Given the description of an element on the screen output the (x, y) to click on. 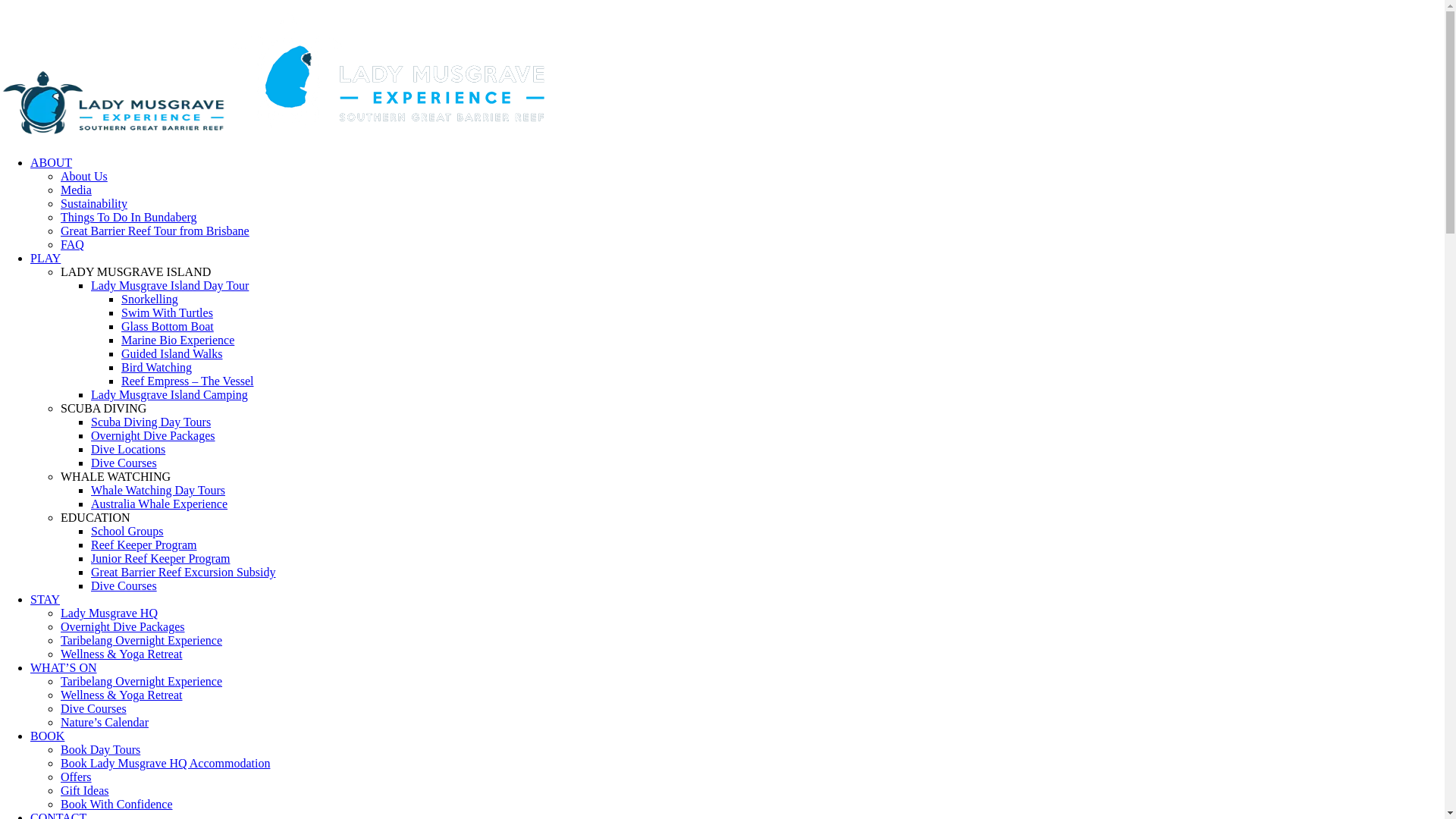
Dive Courses Element type: text (93, 708)
Dive Courses Element type: text (123, 462)
Scuba Diving Day Tours Element type: text (150, 421)
Bird Watching Element type: text (156, 366)
Great Barrier Reef Excursion Subsidy Element type: text (183, 571)
Wellness & Yoga Retreat Element type: text (121, 694)
Things To Do In Bundaberg Element type: text (128, 216)
Lady Musgrave HQ Element type: text (108, 612)
logo Lady Musgrave Experience web Element type: hover (276, 136)
Marine Bio Experience Element type: text (177, 339)
Swim With Turtles Element type: text (167, 312)
Media Element type: text (75, 189)
Great Barrier Reef Tour from Brisbane Element type: text (154, 230)
Junior Reef Keeper Program Element type: text (160, 558)
Dive Locations Element type: text (128, 448)
Glass Bottom Boat Element type: text (167, 326)
logo-LME-web Element type: hover (390, 70)
Offers Element type: text (75, 776)
Overnight Dive Packages Element type: text (122, 626)
Wellness & Yoga Retreat Element type: text (121, 653)
BOOK Element type: text (47, 735)
School Groups Element type: text (127, 530)
About Us Element type: text (83, 175)
Book Day Tours Element type: text (100, 749)
Taribelang Overnight Experience Element type: text (141, 680)
Gift Ideas Element type: text (84, 790)
Book Lady Musgrave HQ Accommodation Element type: text (164, 762)
Lady Musgrave Island Camping Element type: text (169, 394)
Guided Island Walks Element type: text (171, 353)
Reef Keeper Program Element type: text (144, 544)
STAY Element type: text (44, 599)
Lady Musgrave Island Day Tour Element type: text (169, 285)
PLAY Element type: text (45, 257)
FAQ Element type: text (72, 244)
Dive Courses Element type: text (123, 585)
Australia Whale Experience Element type: text (159, 503)
Taribelang Overnight Experience Element type: text (141, 639)
Snorkelling Element type: text (149, 298)
Sustainability Element type: text (93, 203)
Overnight Dive Packages Element type: text (153, 435)
logo Lady Musgrave Experience web Element type: hover (113, 103)
Book With Confidence Element type: text (116, 803)
Whale Watching Day Tours Element type: text (158, 489)
ABOUT Element type: text (51, 162)
